Given the description of an element on the screen output the (x, y) to click on. 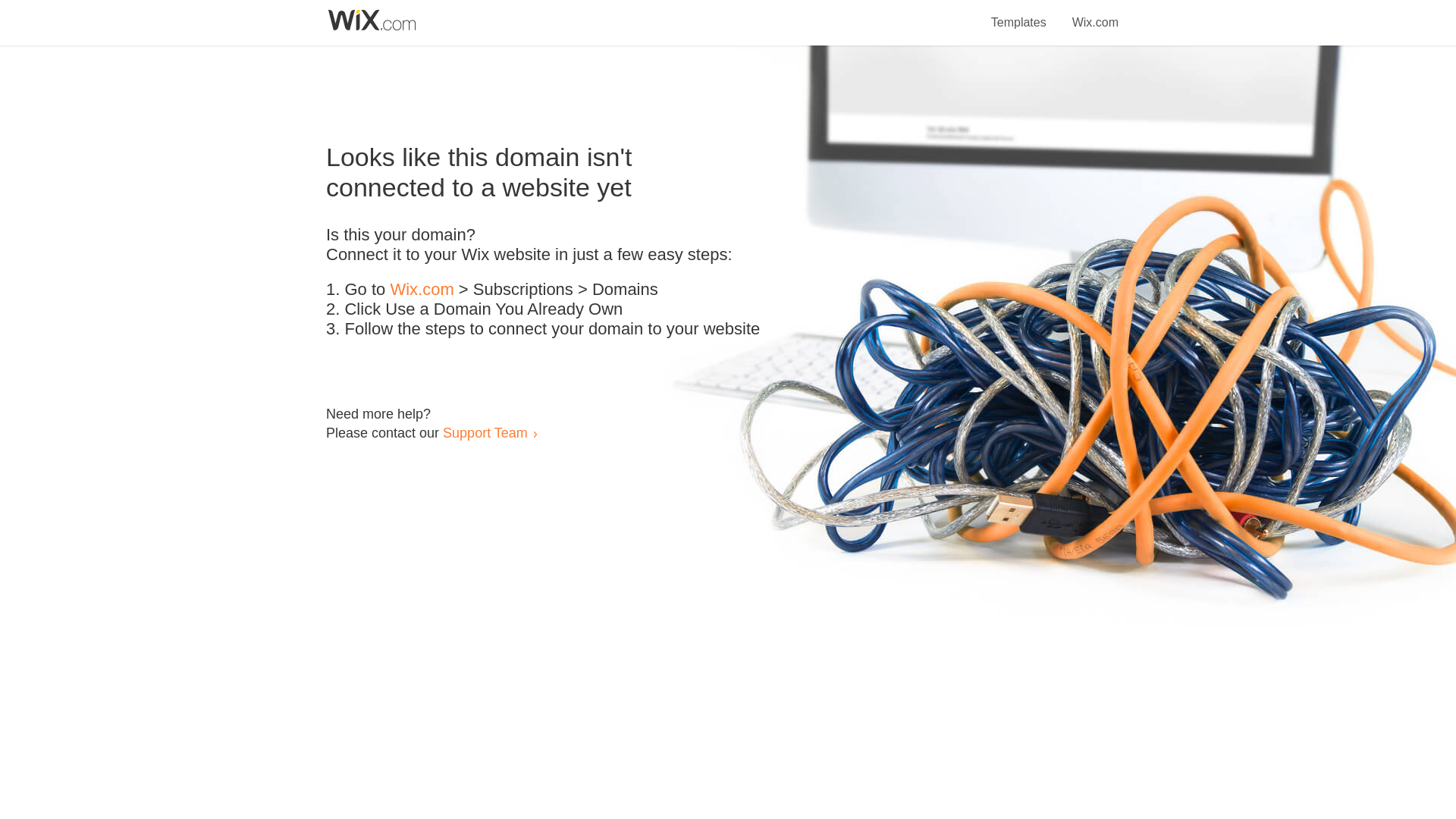
Wix.com (1095, 14)
Support Team (484, 432)
Wix.com (421, 289)
Templates (1018, 14)
